Given the description of an element on the screen output the (x, y) to click on. 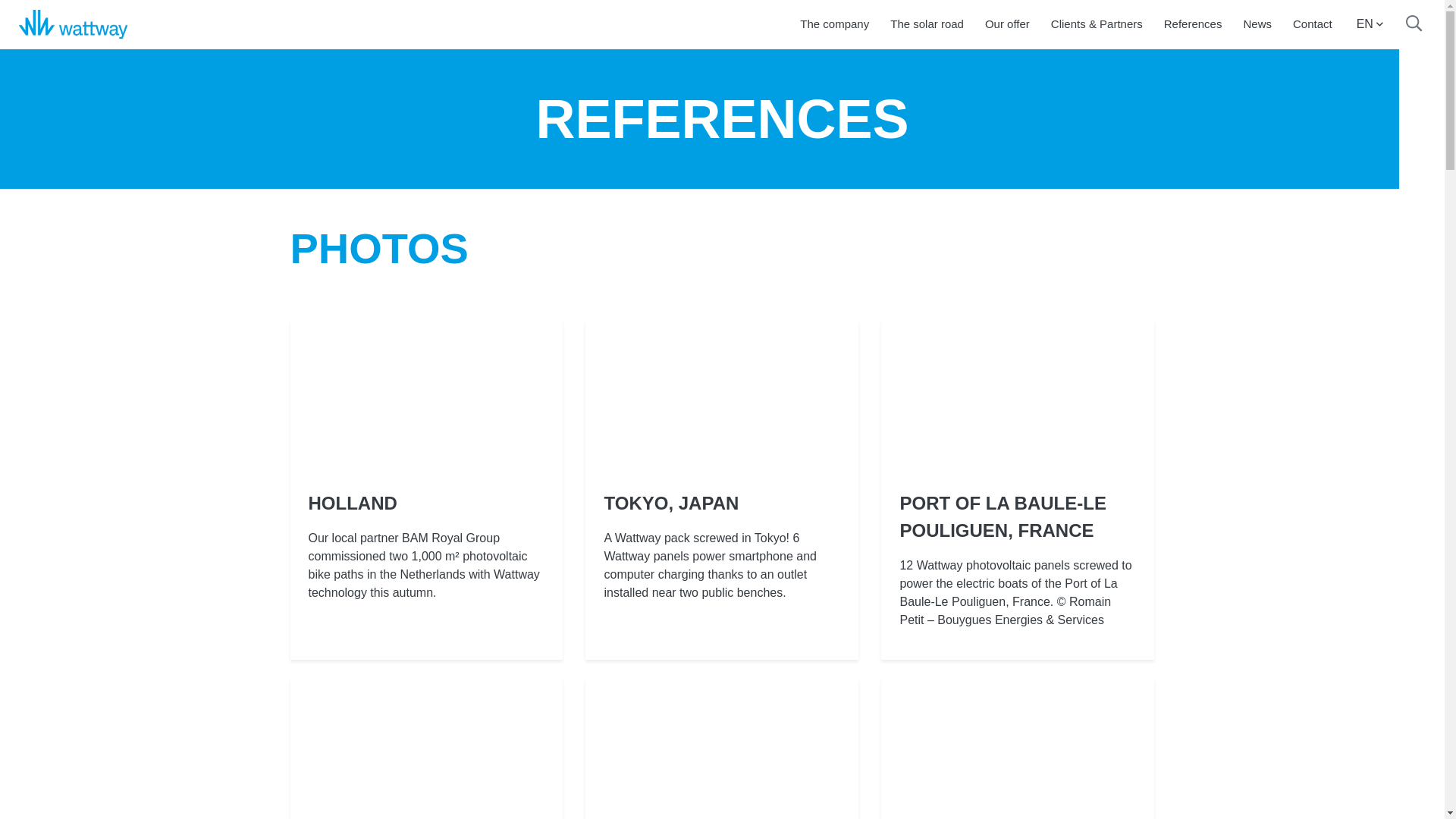
References (1192, 24)
Contact (1312, 24)
The company (834, 24)
Our offer (1006, 24)
News (1257, 24)
EN (1370, 24)
The solar road (926, 24)
